Given the description of an element on the screen output the (x, y) to click on. 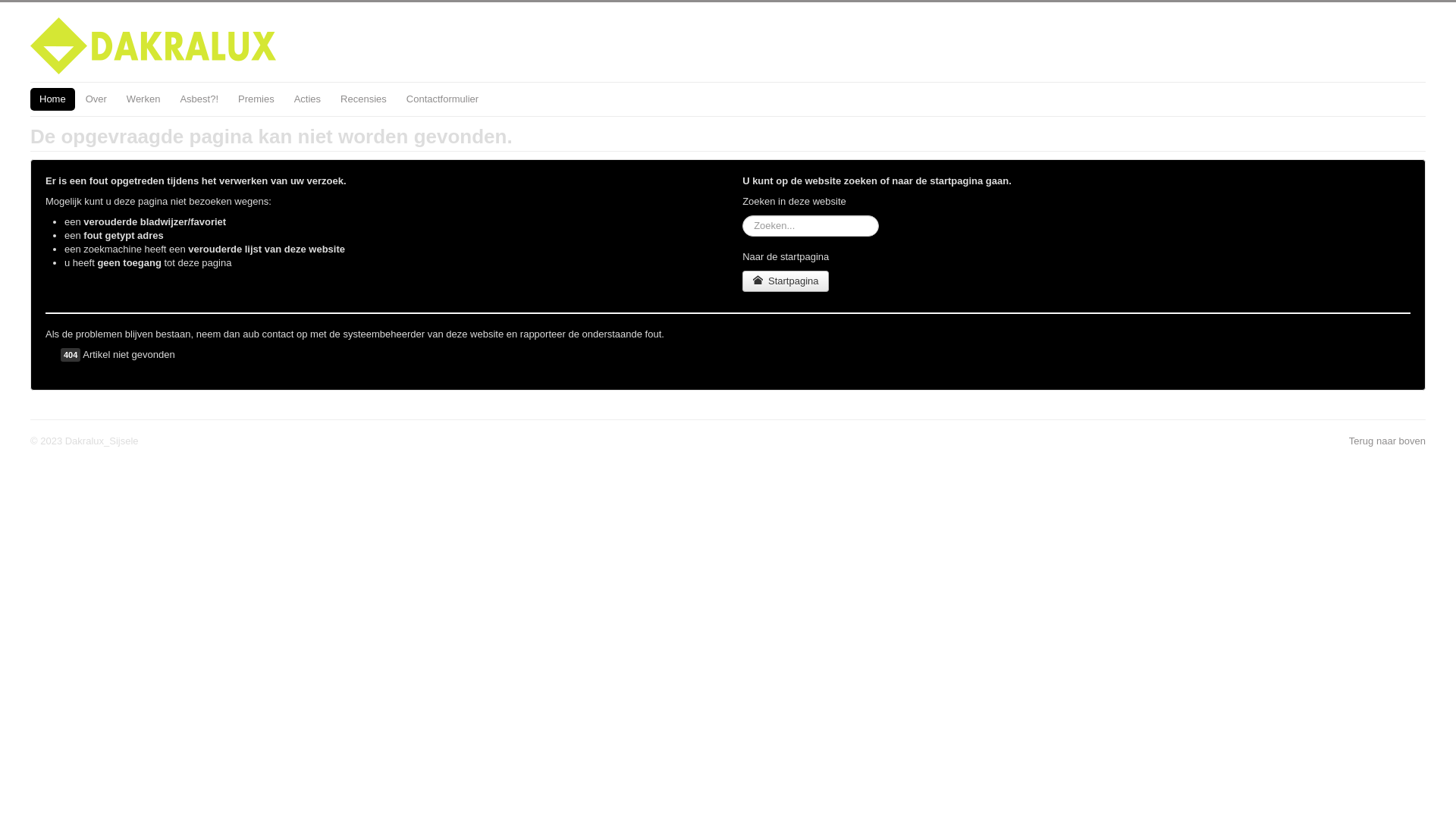
Contactformulier Element type: text (442, 98)
Acties Element type: text (307, 98)
Recensies Element type: text (363, 98)
Startpagina Element type: text (785, 280)
Over Element type: text (96, 98)
Werken Element type: text (143, 98)
Terug naar boven Element type: text (1387, 440)
Premies Element type: text (256, 98)
Home Element type: text (52, 98)
Asbest?! Element type: text (198, 98)
